Given the description of an element on the screen output the (x, y) to click on. 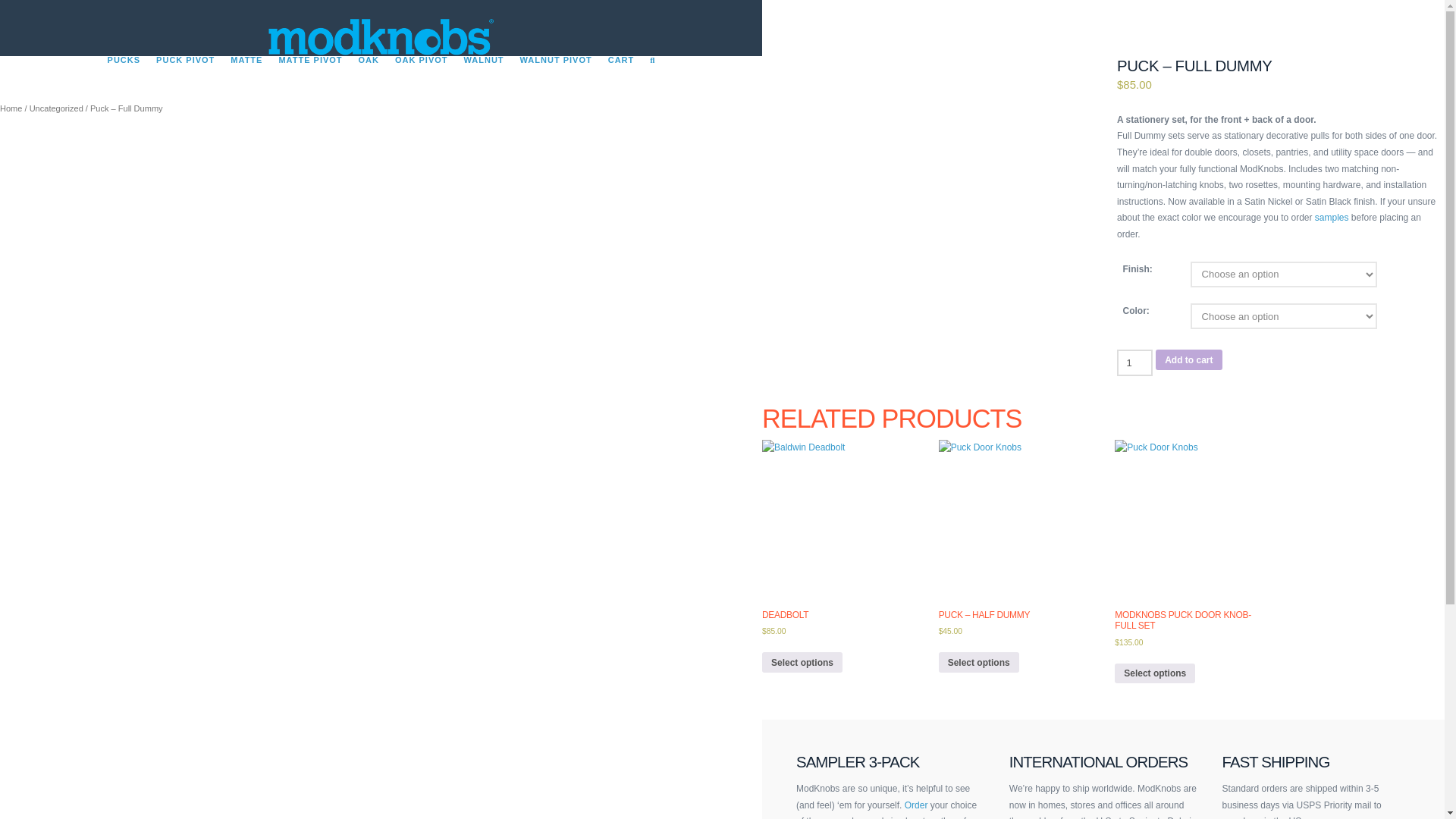
PUCKS (123, 78)
1 (1134, 362)
Uncategorized (55, 108)
MATTE PIVOT (309, 78)
OAK PIVOT (421, 78)
samples (1331, 217)
CART (620, 78)
Add to cart (1188, 359)
WALNUT (483, 78)
WALNUT PIVOT (555, 78)
Home (10, 108)
MATTE (245, 78)
PUCK PIVOT (185, 78)
